Given the description of an element on the screen output the (x, y) to click on. 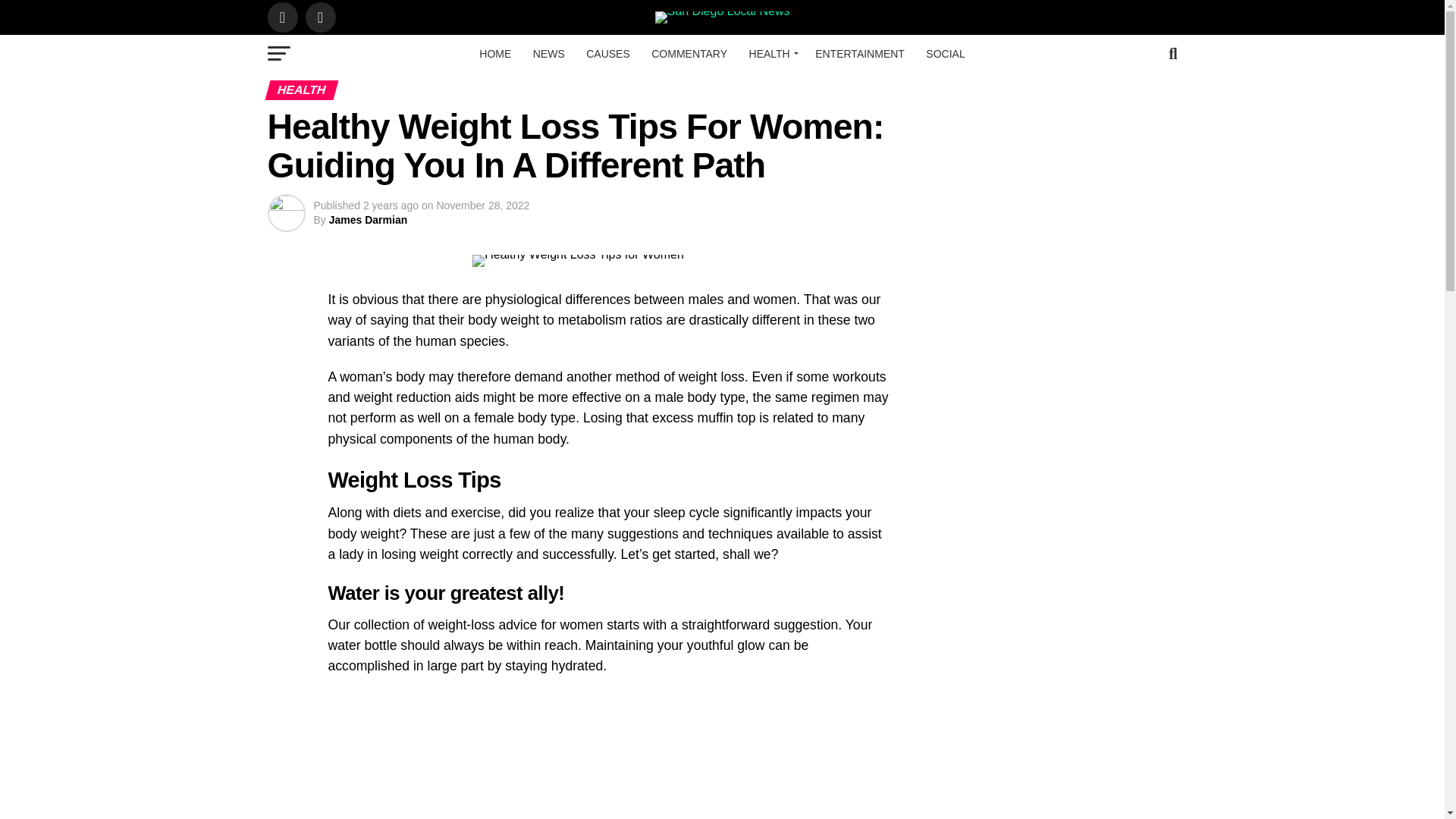
NEWS (548, 53)
COMMENTARY (689, 53)
HOME (494, 53)
SOCIAL (945, 53)
HEALTH (771, 53)
Posts by James Darmian (368, 219)
James Darmian (368, 219)
CAUSES (607, 53)
ENTERTAINMENT (860, 53)
